Given the description of an element on the screen output the (x, y) to click on. 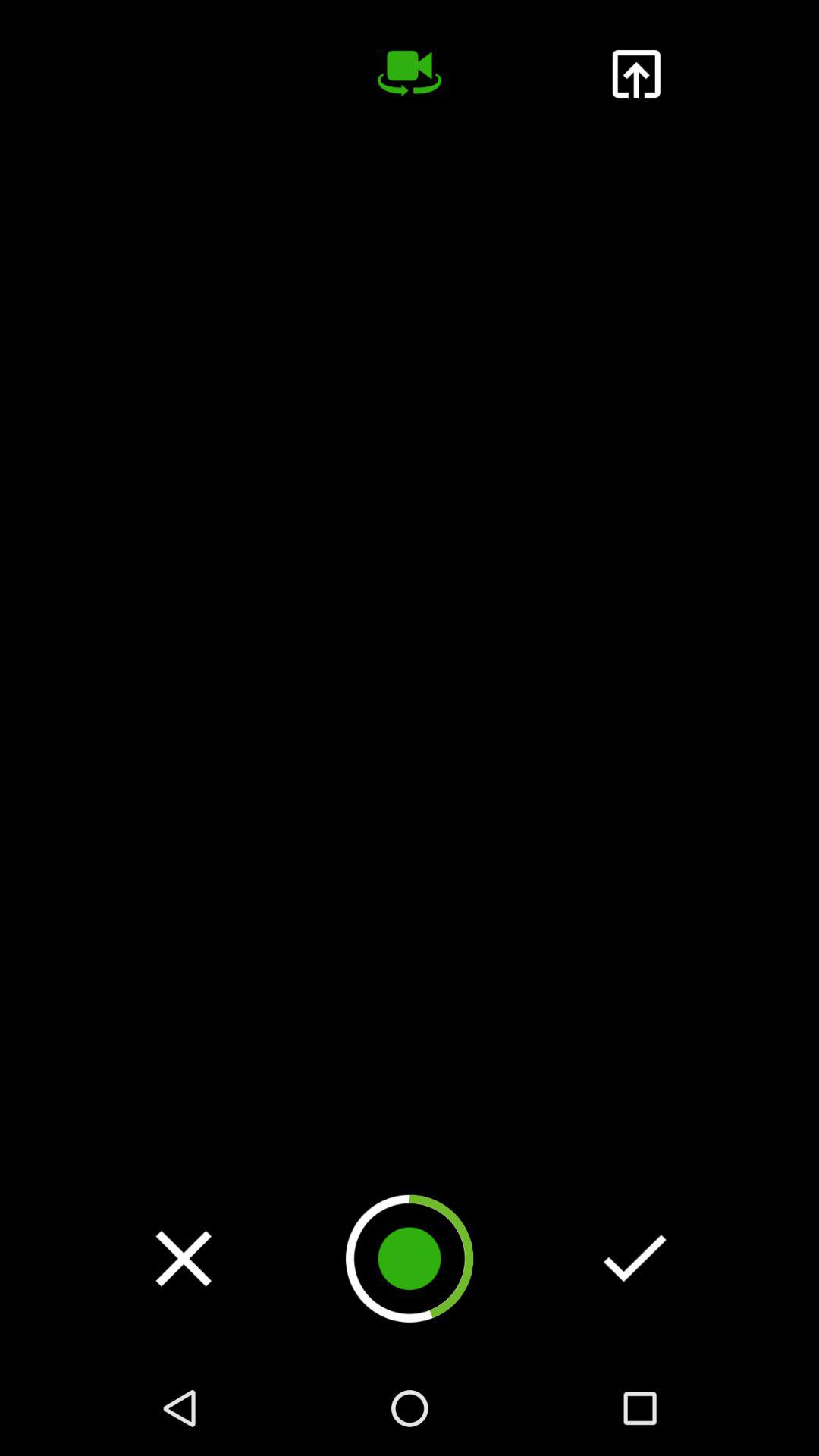
advance check (634, 1258)
